Given the description of an element on the screen output the (x, y) to click on. 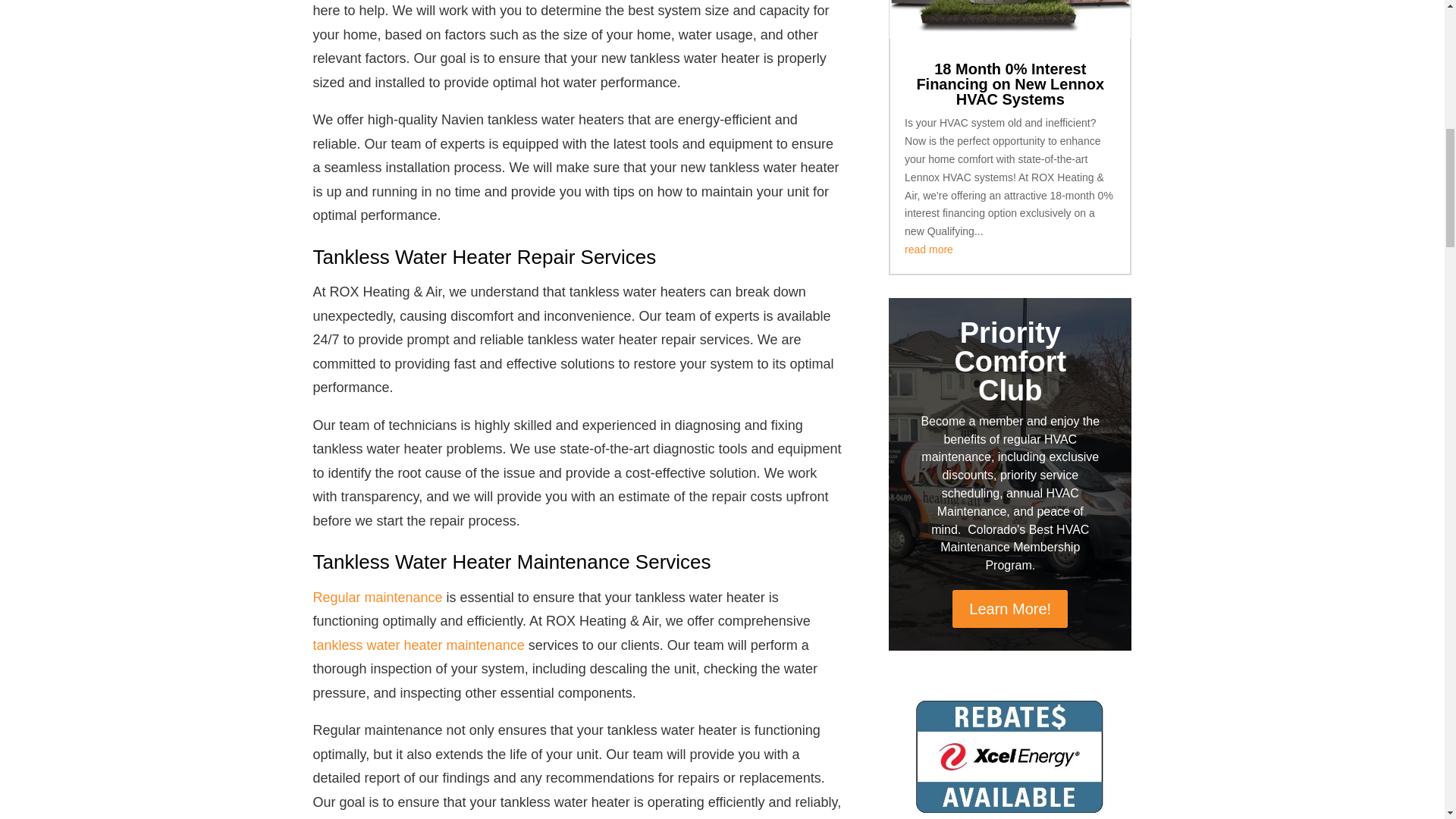
Regular maintenance (377, 597)
read more (928, 249)
Learn More! (1009, 608)
tankless water heater maintenance (418, 645)
xcel-rebates-colorado.jpg (1009, 746)
